Given the description of an element on the screen output the (x, y) to click on. 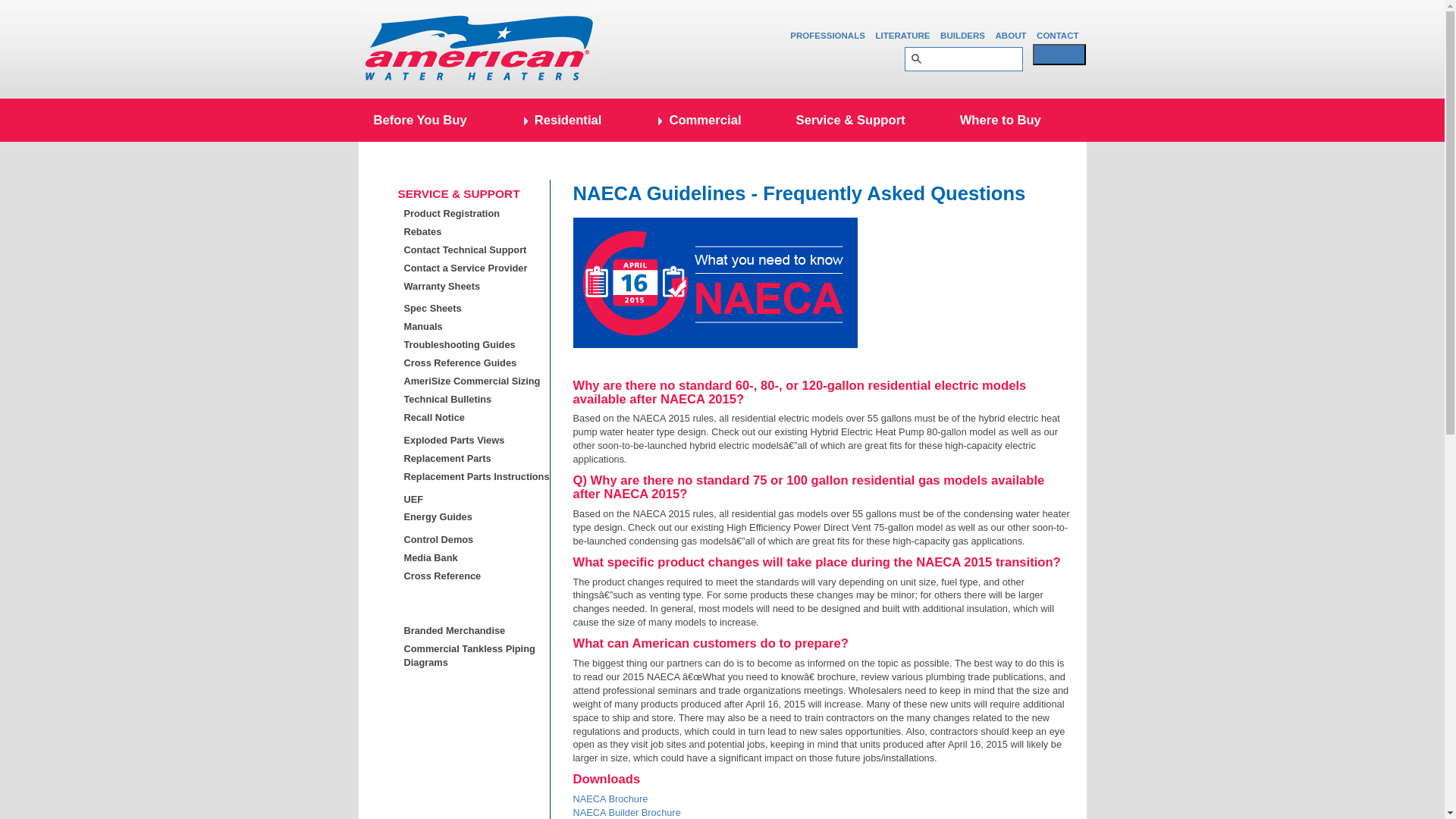
Amercian Water Heaters (478, 49)
ABOUT (1010, 35)
Before You Buy (418, 120)
Amercian Water Heaters (478, 49)
Commercial (698, 120)
BUILDERS (962, 35)
PROFESSIONALS (827, 35)
Residential (561, 120)
LITERATURE (902, 35)
CONTACT (1057, 35)
